Given the description of an element on the screen output the (x, y) to click on. 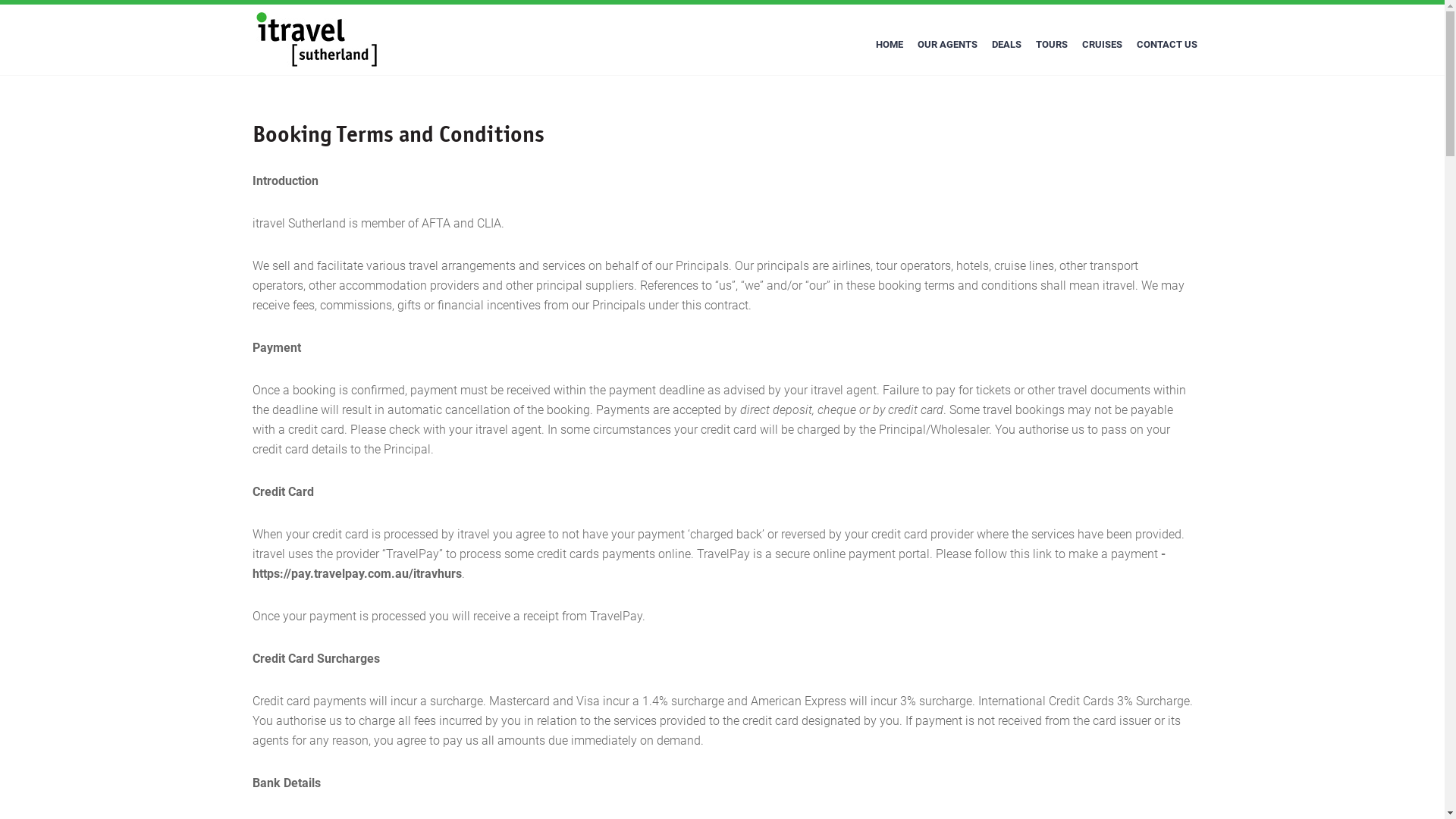
CRUISES Element type: text (1102, 44)
Skip to main content Element type: text (0, 0)
OUR AGENTS Element type: text (946, 44)
itavel-Sutherland-(dark) Element type: hover (317, 39)
HOME Element type: text (889, 44)
CONTACT US Element type: text (1166, 44)
DEALS Element type: text (1005, 44)
TOURS Element type: text (1050, 44)
